Given the description of an element on the screen output the (x, y) to click on. 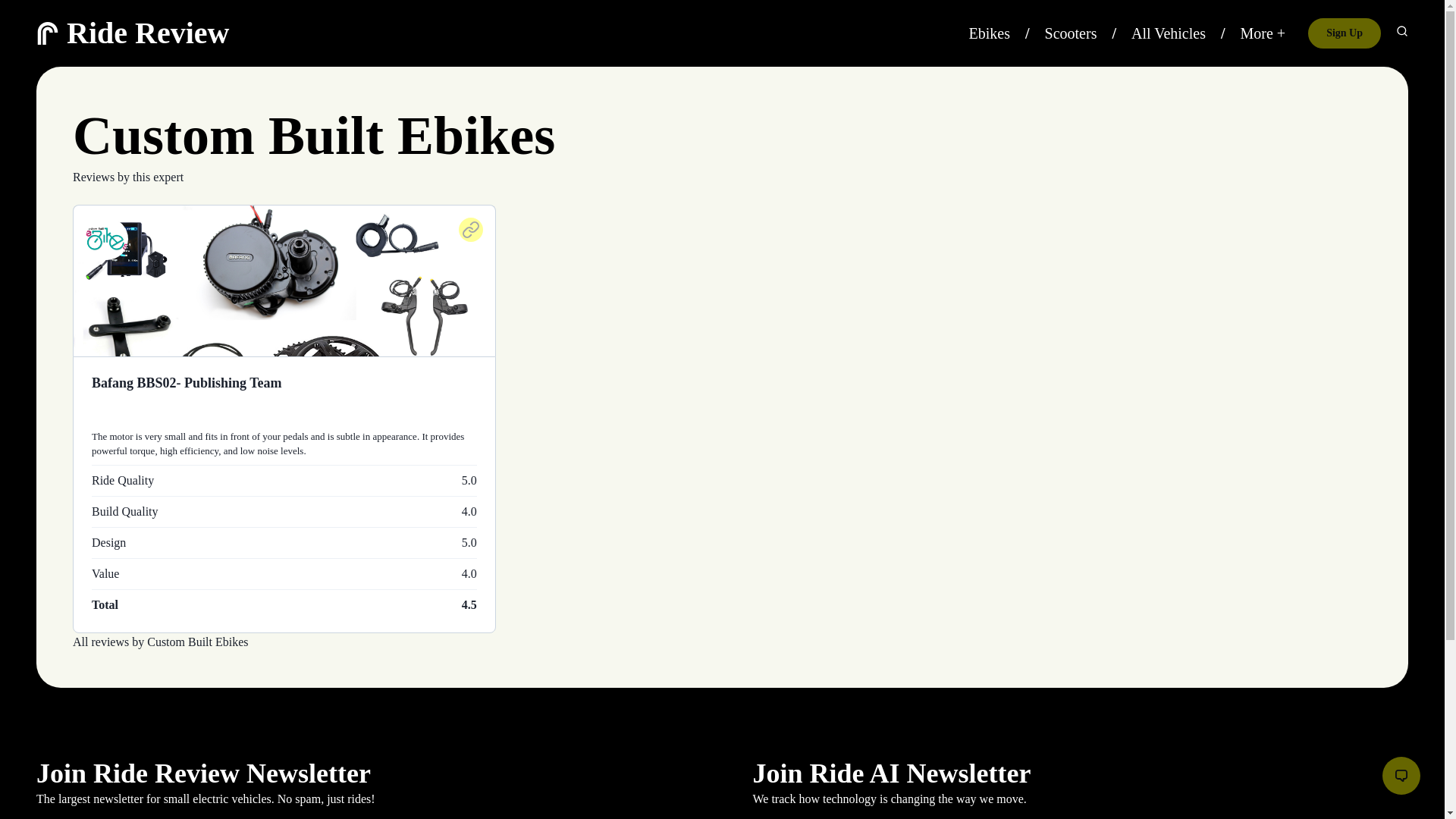
Ride Review (147, 32)
Sign Up (1343, 33)
All Vehicles (1168, 33)
Scooters (1071, 33)
Ebikes (989, 33)
All reviews by Custom Built Ebikes (160, 641)
